Given the description of an element on the screen output the (x, y) to click on. 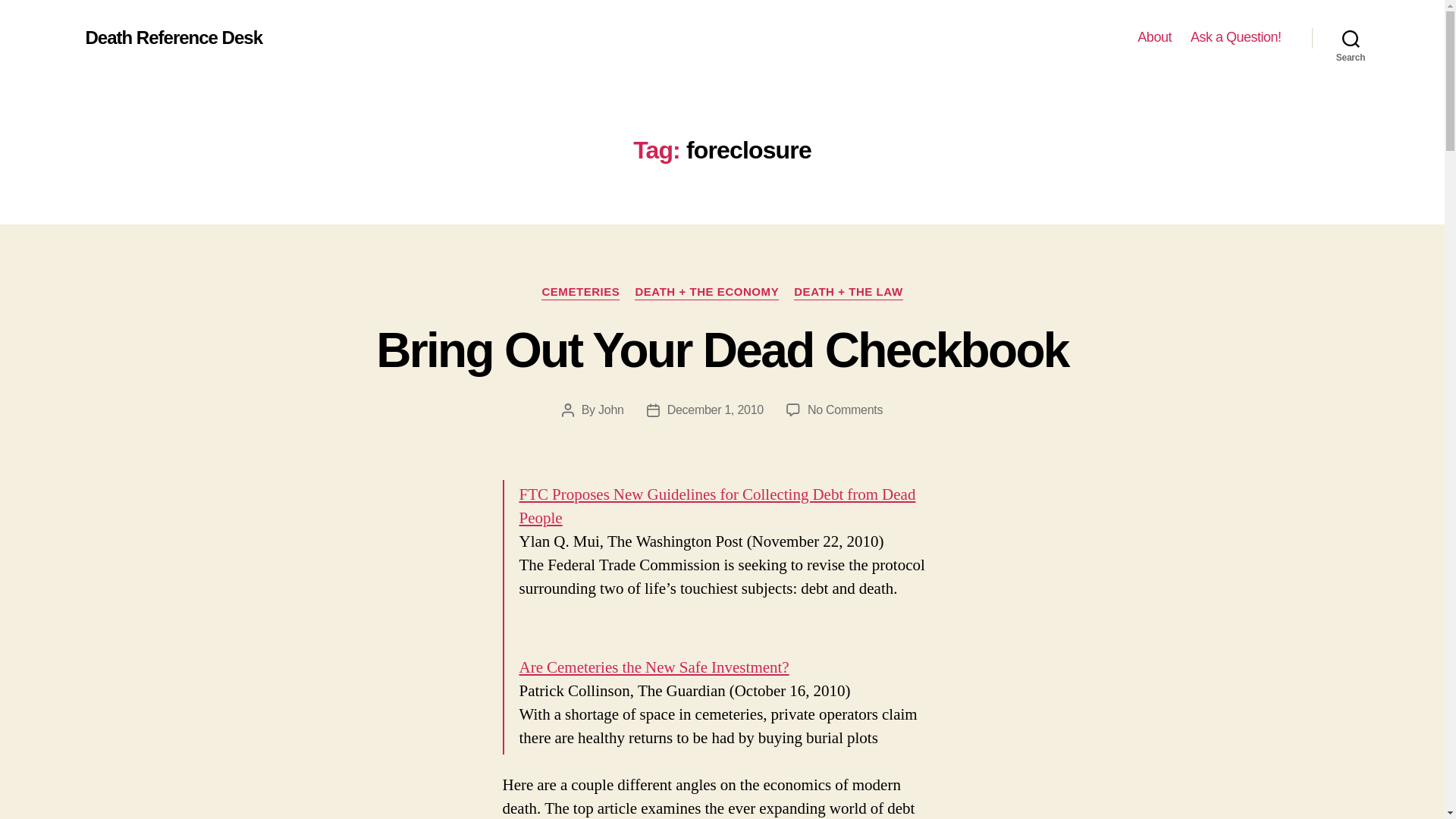
Are Cemeteries the New Safe Investment? (845, 409)
Bring Out Your Dead Checkbook (653, 667)
John (721, 349)
December 1, 2010 (611, 409)
CEMETERIES (714, 409)
About (580, 292)
Death Reference Desk (1154, 37)
Ask a Question! (173, 37)
